Given the description of an element on the screen output the (x, y) to click on. 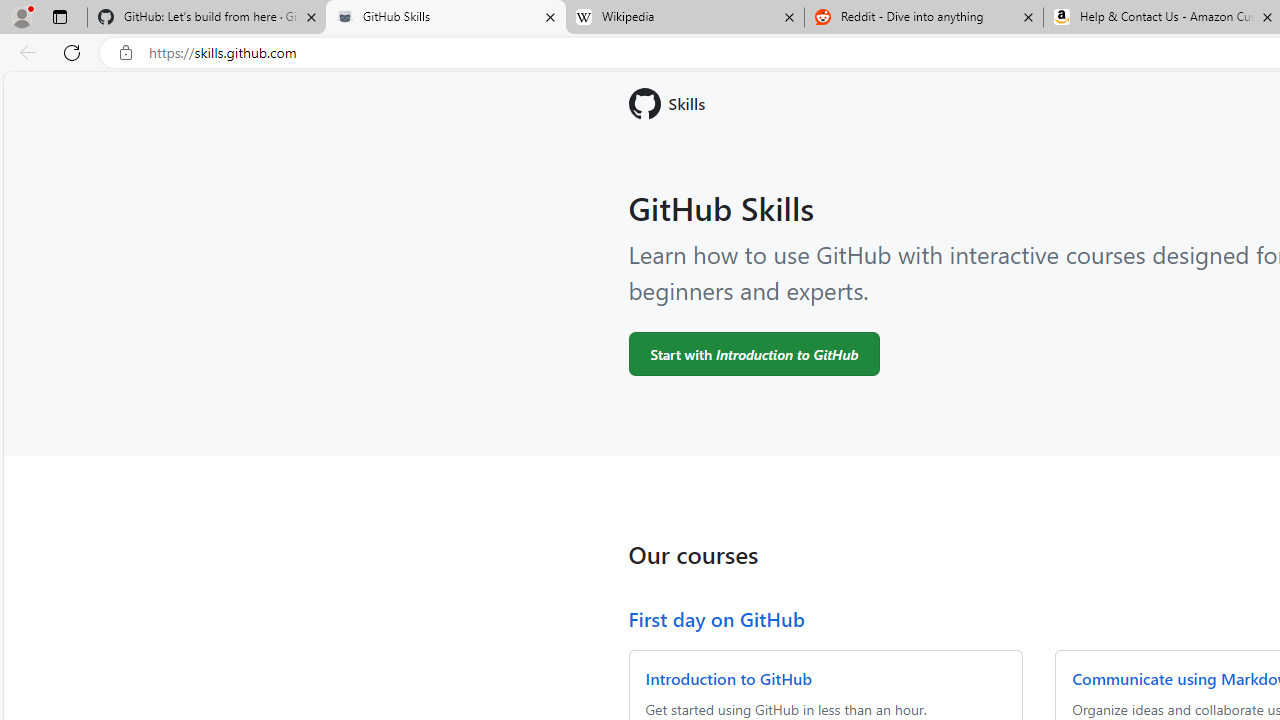
First day on GitHub (716, 618)
Start with Introduction to GitHub (754, 353)
Introduction to GitHub (728, 678)
GitHub Skills (445, 17)
